Given the description of an element on the screen output the (x, y) to click on. 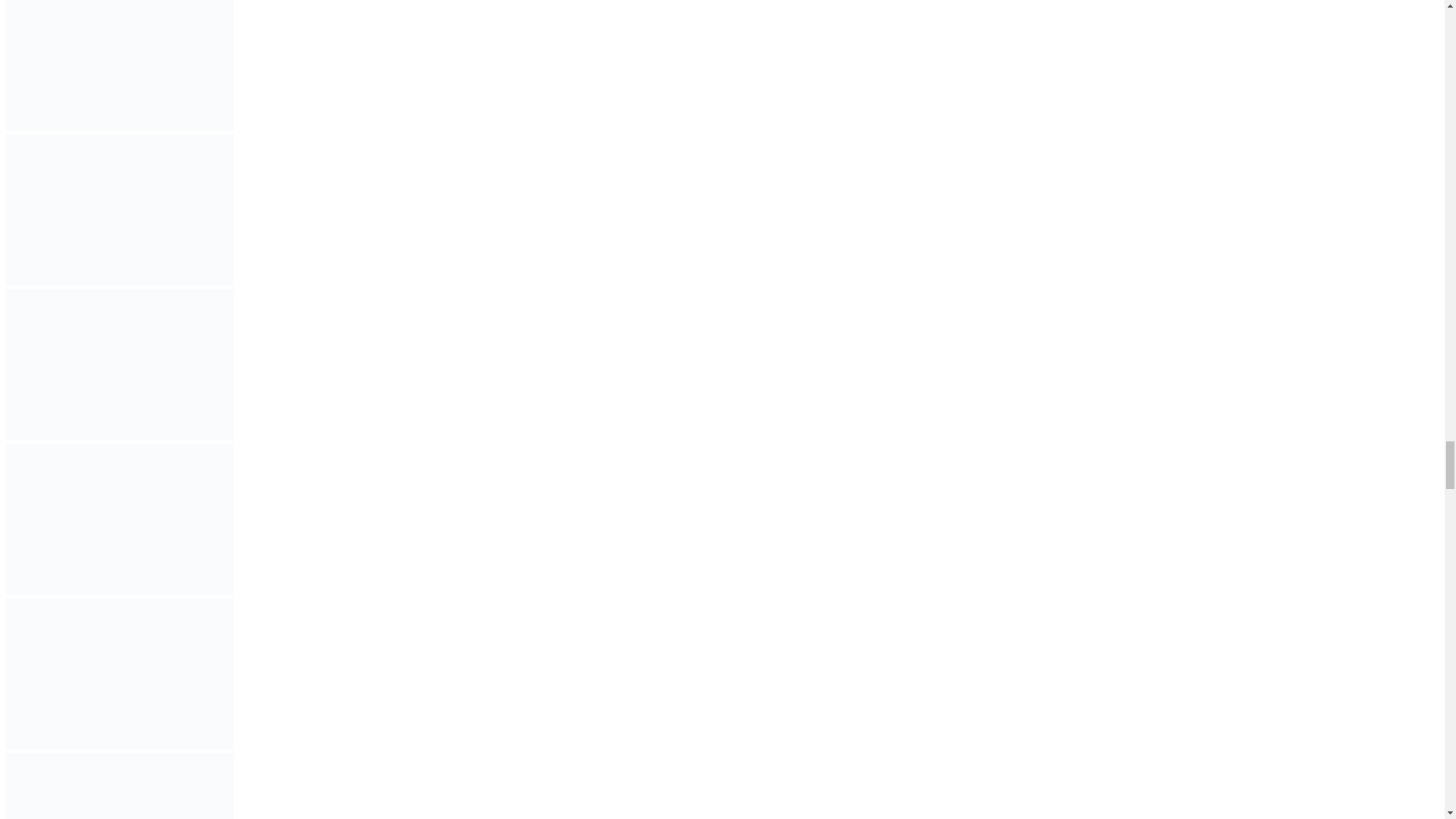
Seychelles inner islands mahe constance ephelia resort20 (118, 364)
Seychelles inner islands mahe constance ephelia resort18 (118, 65)
Seychelles inner islands mahe constance ephelia resort23 (118, 785)
Seychelles inner islands mahe constance ephelia resort19 (118, 209)
Seychelles inner islands mahe constance ephelia resort21 (118, 519)
Seychelles inner islands mahe constance ephelia resort22 (118, 674)
